Given the description of an element on the screen output the (x, y) to click on. 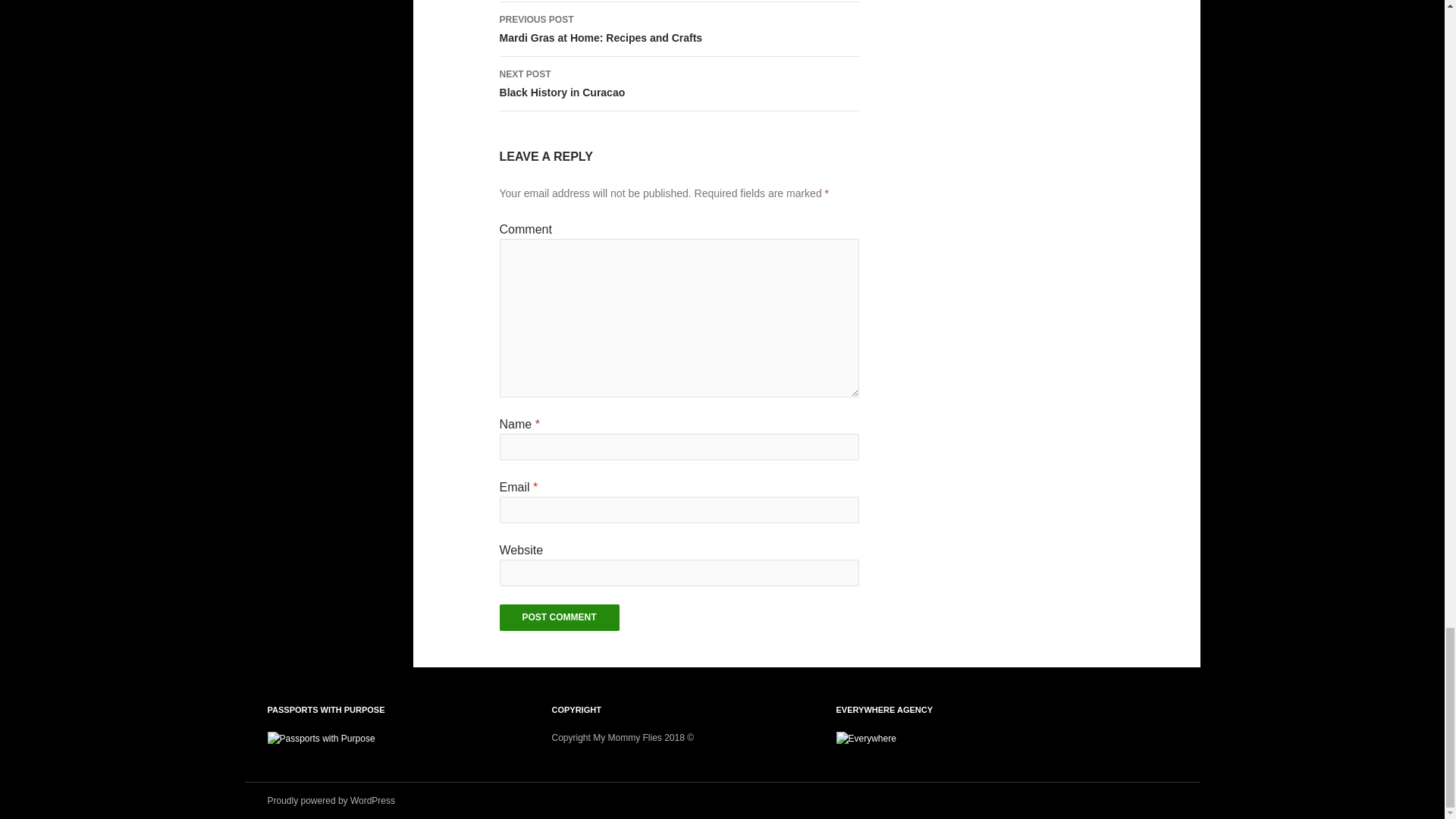
Post Comment (559, 617)
Passports with Purpose (679, 83)
